Given the description of an element on the screen output the (x, y) to click on. 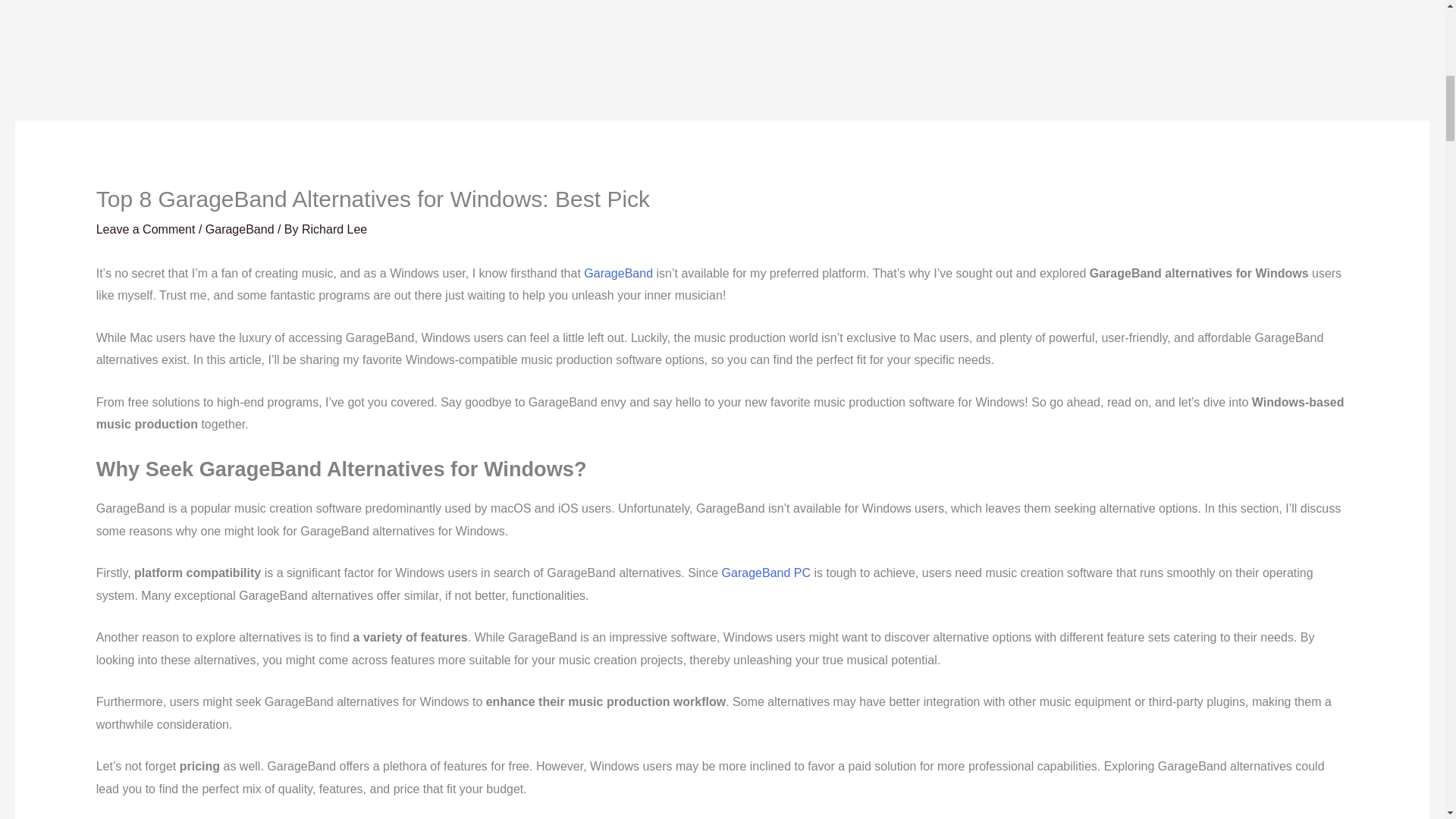
View all posts by Richard Lee (333, 228)
GarageBand (240, 228)
Leave a Comment (145, 228)
GarageBand PC (766, 572)
Richard Lee (333, 228)
GarageBand (617, 273)
